Given the description of an element on the screen output the (x, y) to click on. 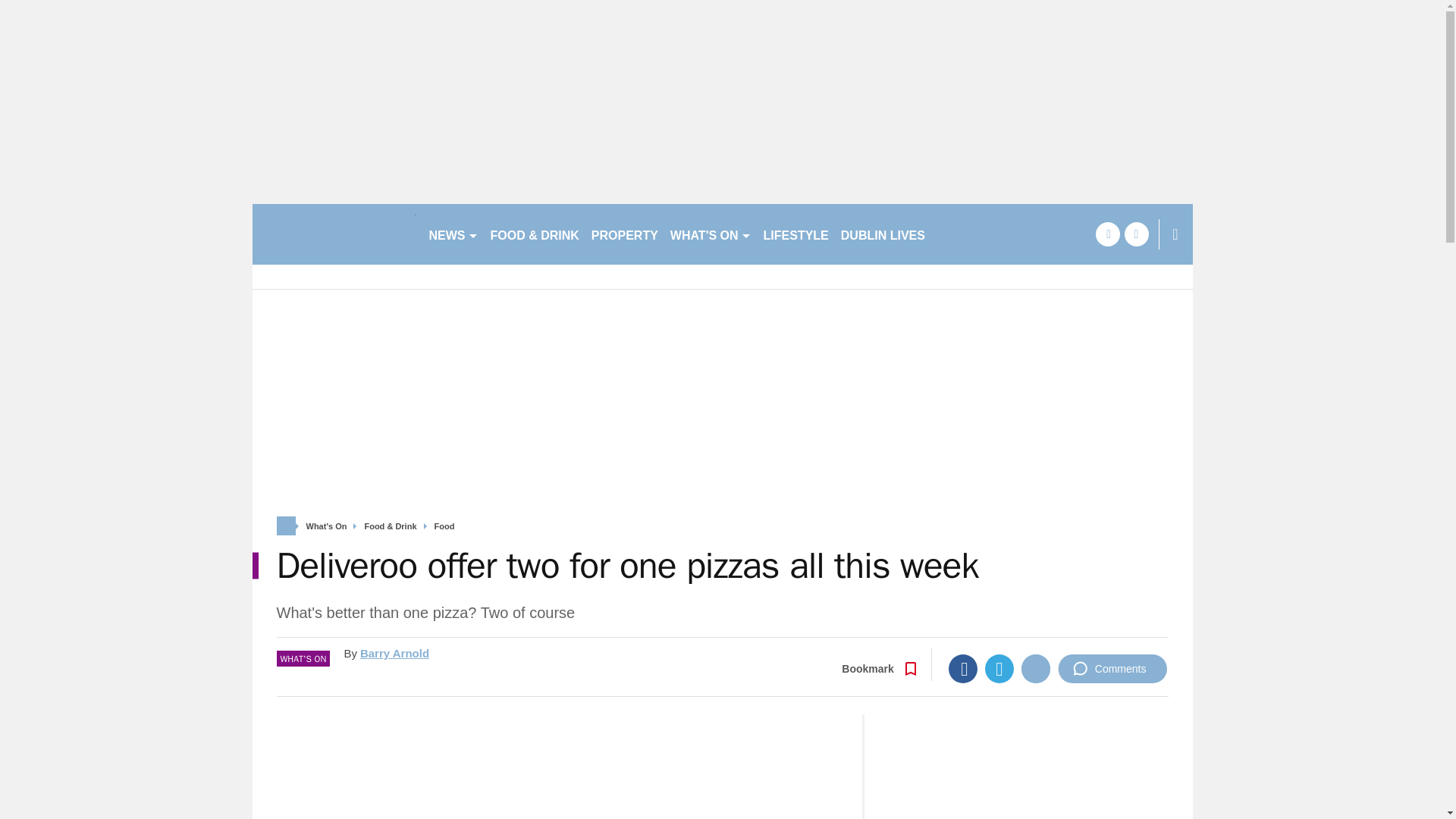
NEWS (453, 233)
LIFESTYLE (795, 233)
DUBLIN LIVES (882, 233)
twitter (1136, 233)
Facebook (962, 668)
PROPERTY (624, 233)
SOCCER (962, 233)
Twitter (999, 668)
dublinlive (332, 233)
WHAT'S ON (710, 233)
facebook (1106, 233)
Comments (1112, 668)
